Given the description of an element on the screen output the (x, y) to click on. 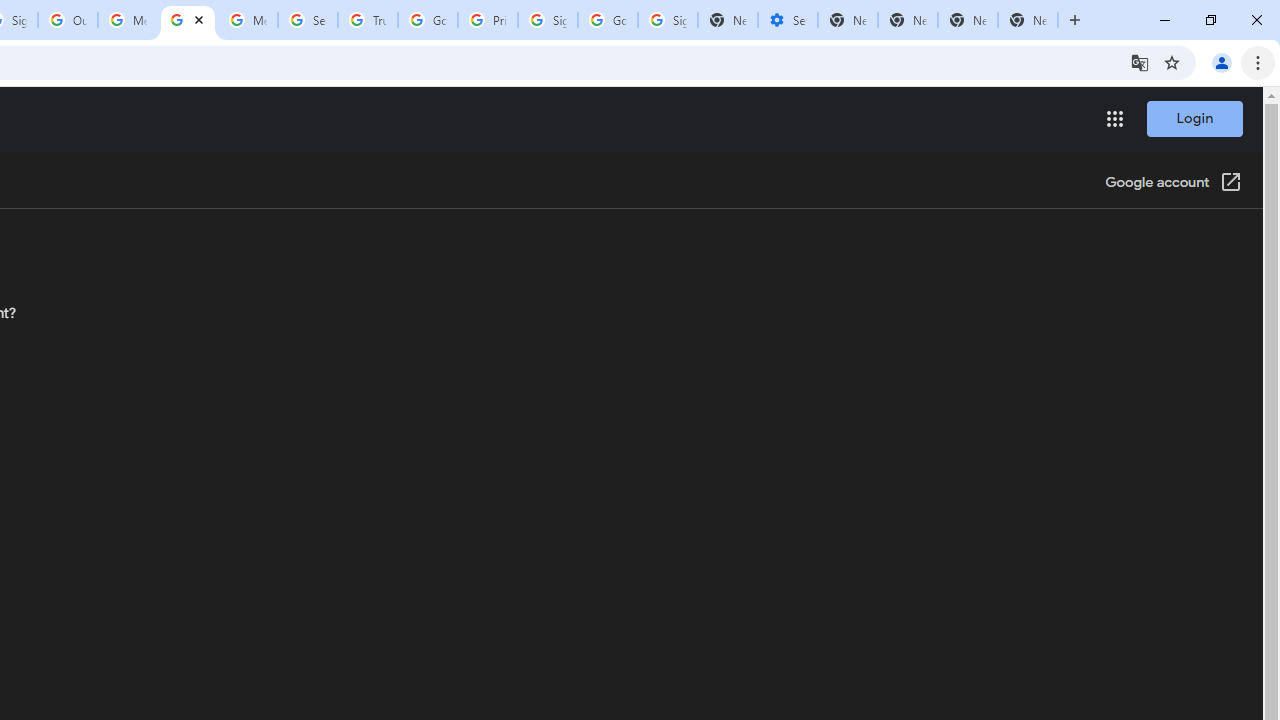
New Tab (1028, 20)
Translate this page (1139, 62)
Settings - Performance (787, 20)
Sign in - Google Accounts (667, 20)
Google Cybersecurity Innovations - Google Safety Center (607, 20)
Google Account (Opens in new window) (1173, 183)
Trusted Information and Content - Google Safety Center (367, 20)
Turn cookies on or off - Computer - Google Account Help (187, 20)
